Given the description of an element on the screen output the (x, y) to click on. 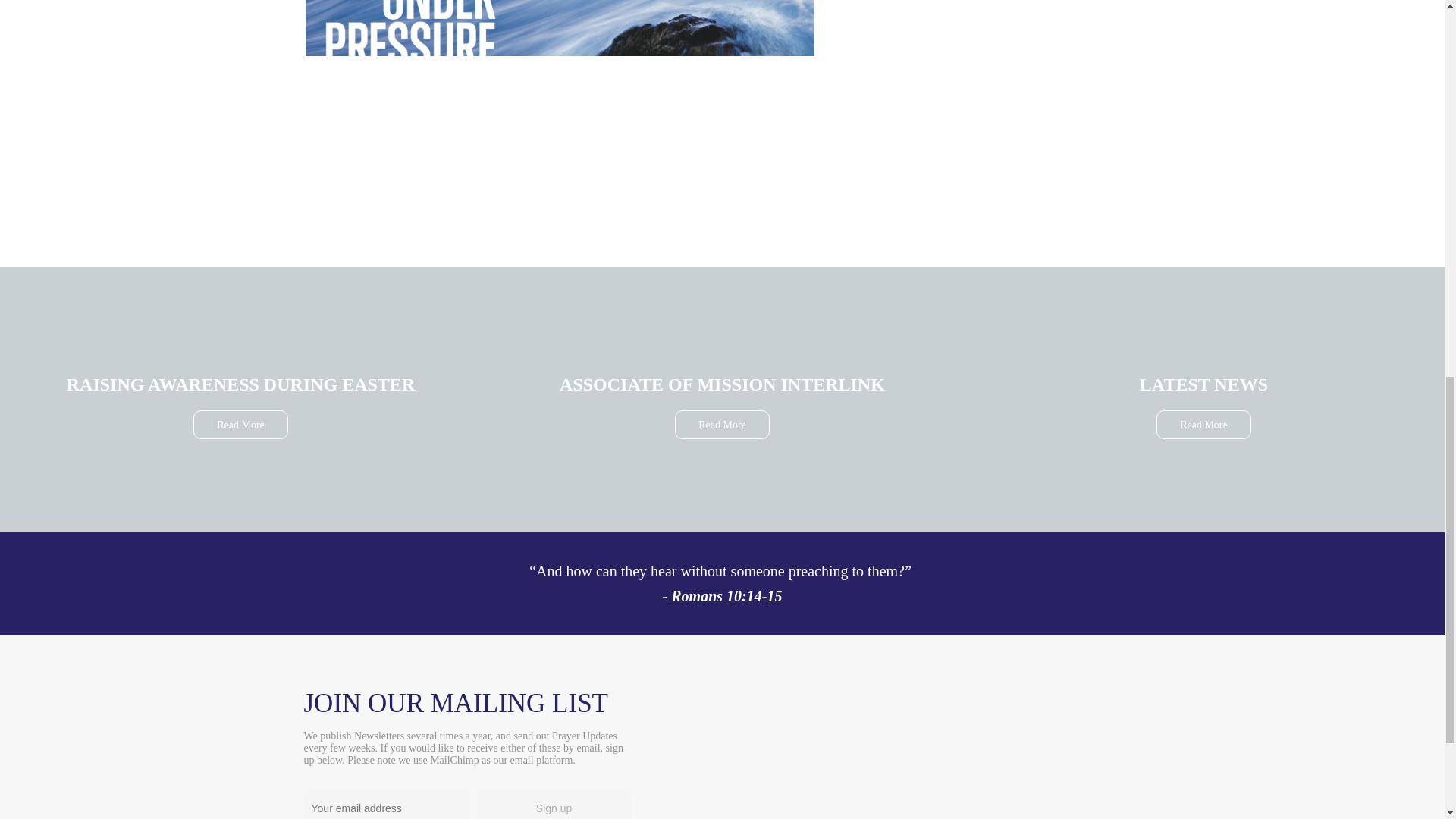
Sign up (554, 804)
SUMMER CONVENTION AT BELGRAVE HEIGHTS (558, 116)
Read More (722, 424)
Read More (240, 424)
